Given the description of an element on the screen output the (x, y) to click on. 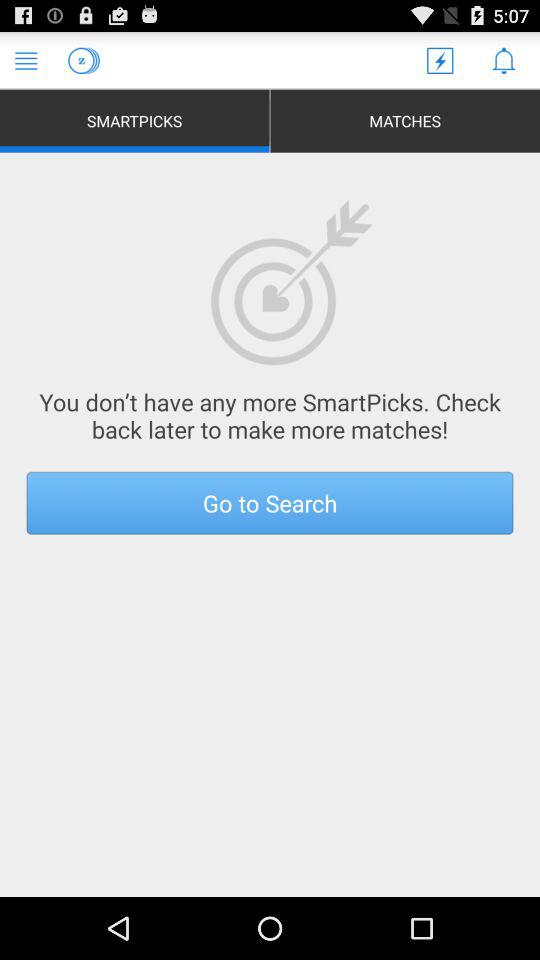
flip to the go to search button (269, 502)
